Given the description of an element on the screen output the (x, y) to click on. 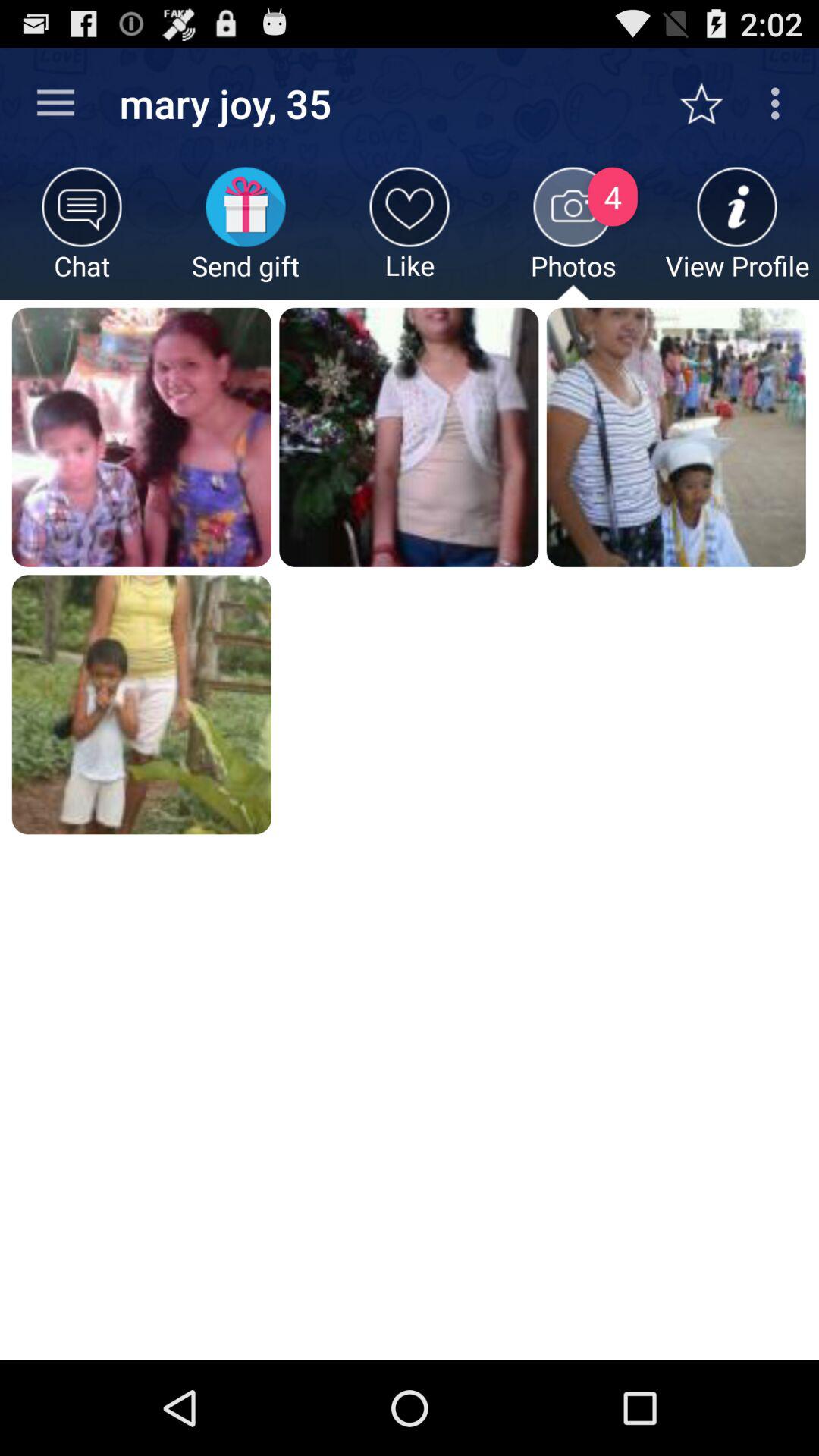
open app below mary joy, 35 (245, 233)
